Given the description of an element on the screen output the (x, y) to click on. 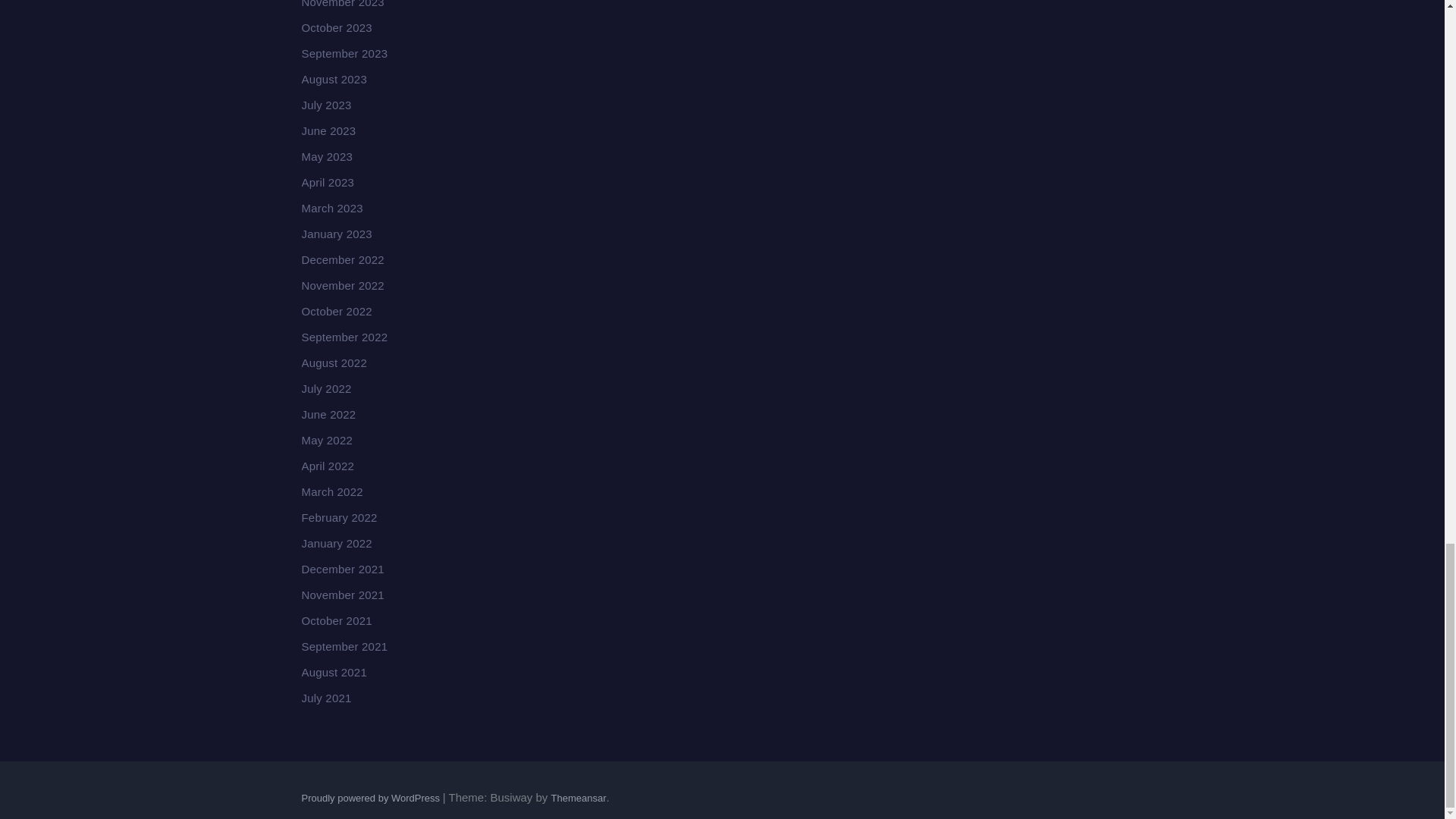
September 2023 (344, 52)
July 2023 (326, 104)
March 2023 (331, 207)
June 2023 (328, 130)
October 2023 (336, 27)
August 2023 (333, 78)
January 2023 (336, 233)
May 2023 (326, 155)
November 2023 (342, 4)
April 2023 (328, 182)
